Given the description of an element on the screen output the (x, y) to click on. 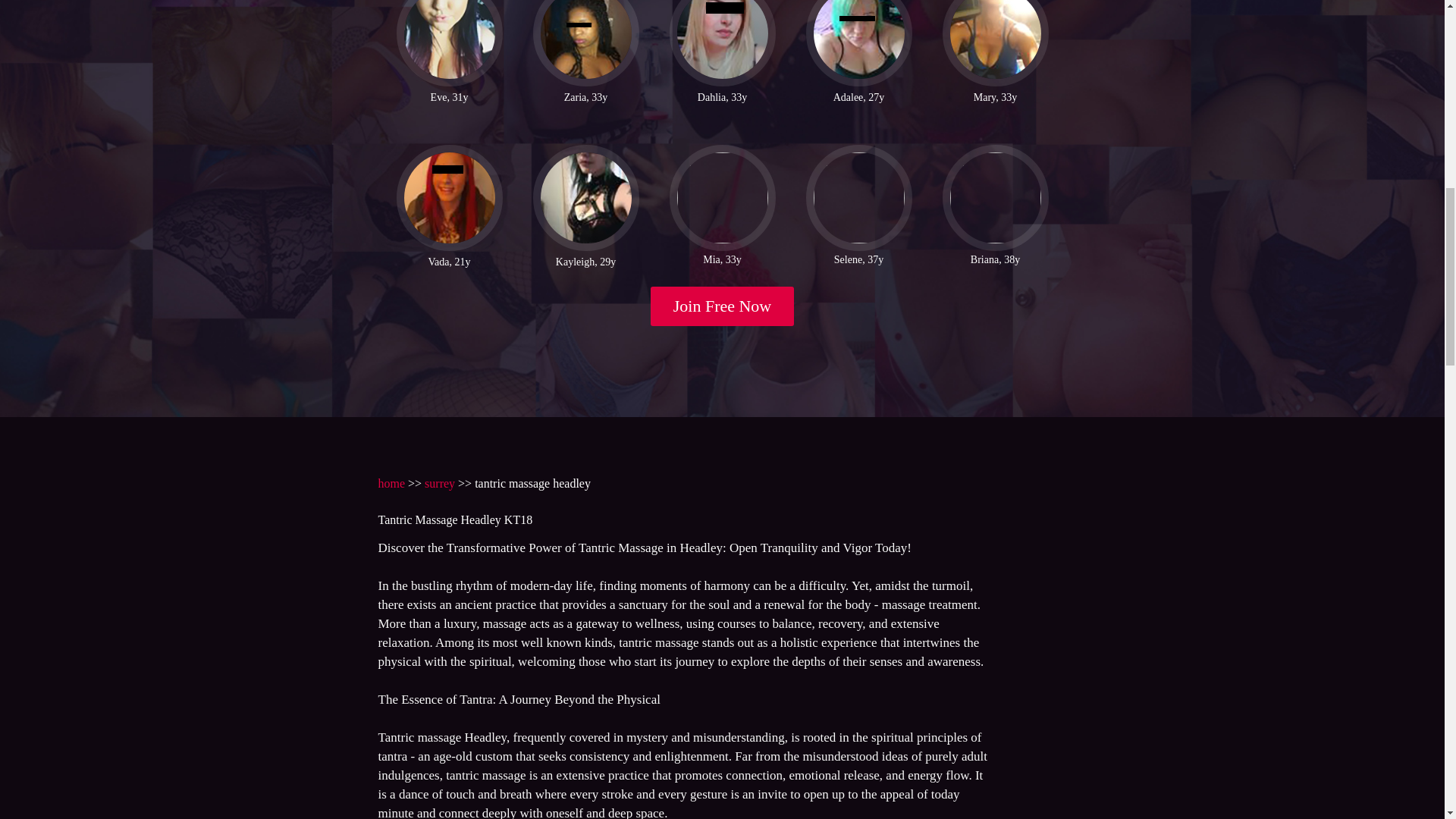
home (390, 482)
Join (722, 305)
surrey (439, 482)
Join Free Now (722, 305)
